Given the description of an element on the screen output the (x, y) to click on. 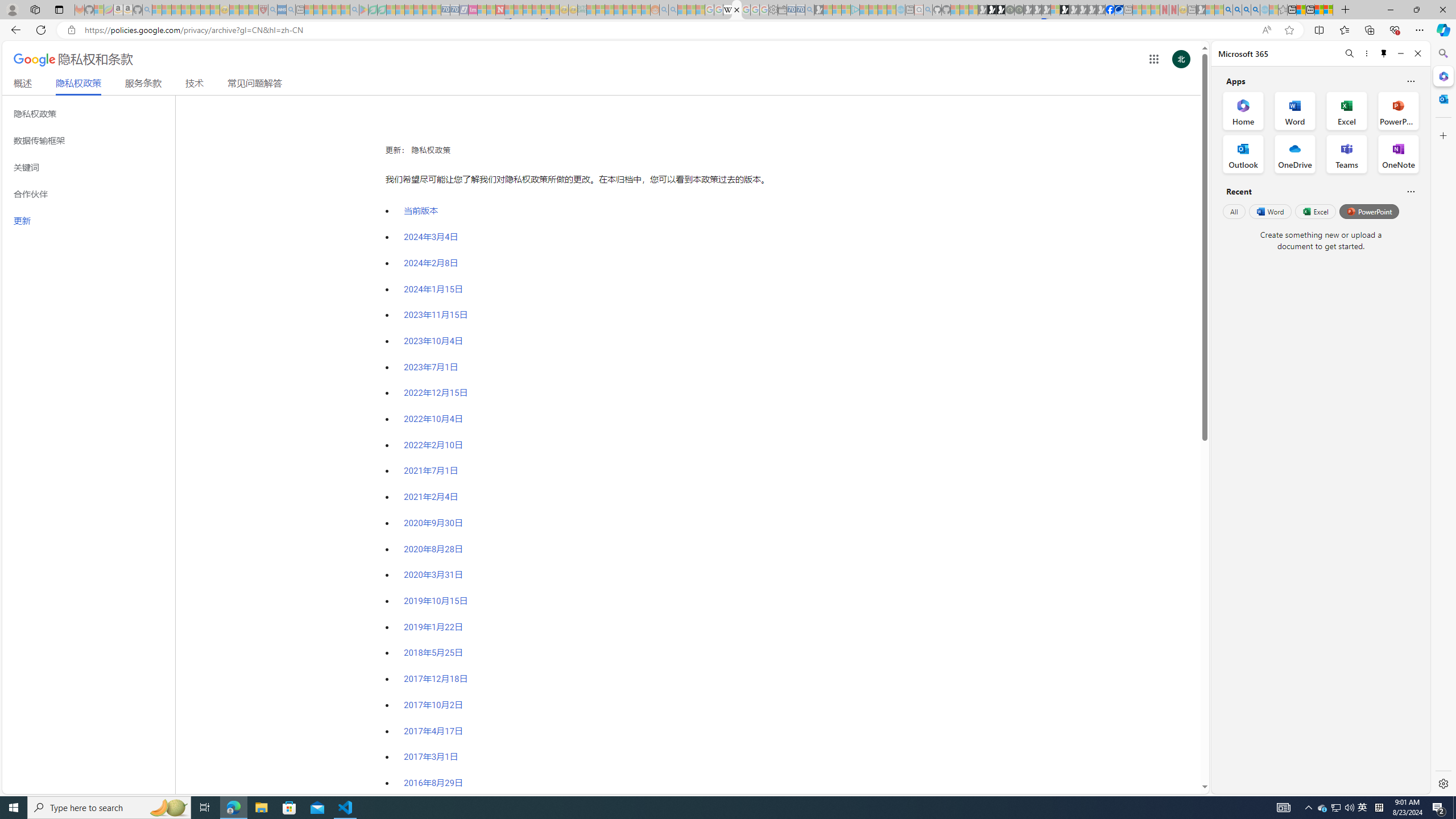
Bluey: Let's Play! - Apps on Google Play - Sleeping (362, 9)
Unpin side pane (1383, 53)
Future Focus Report 2024 - Sleeping (1018, 9)
Settings - Sleeping (773, 9)
google - Search - Sleeping (354, 9)
